Given the description of an element on the screen output the (x, y) to click on. 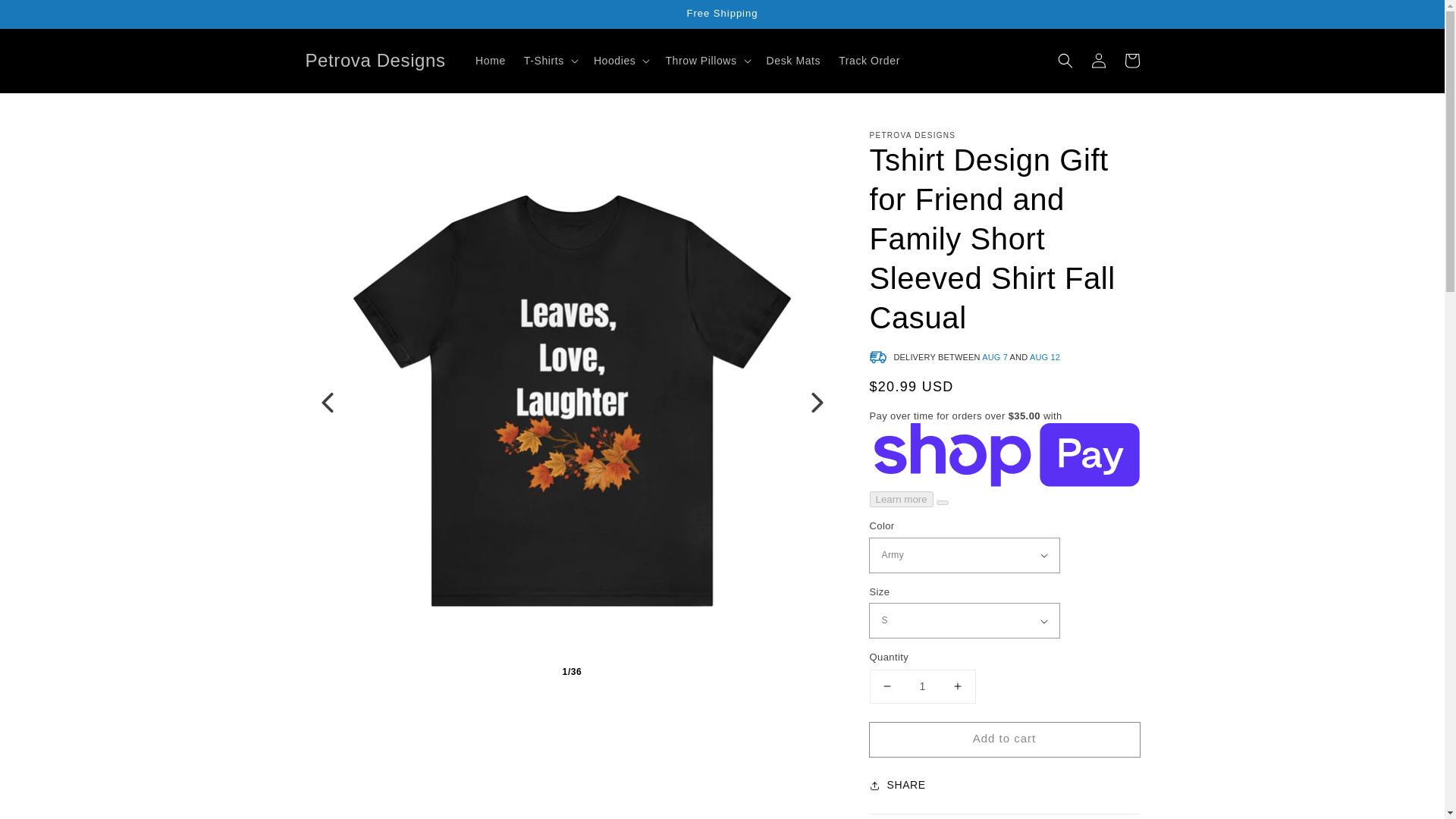
1 (922, 686)
Skip to content (45, 16)
Home (490, 60)
Petrova Designs (375, 60)
